Given the description of an element on the screen output the (x, y) to click on. 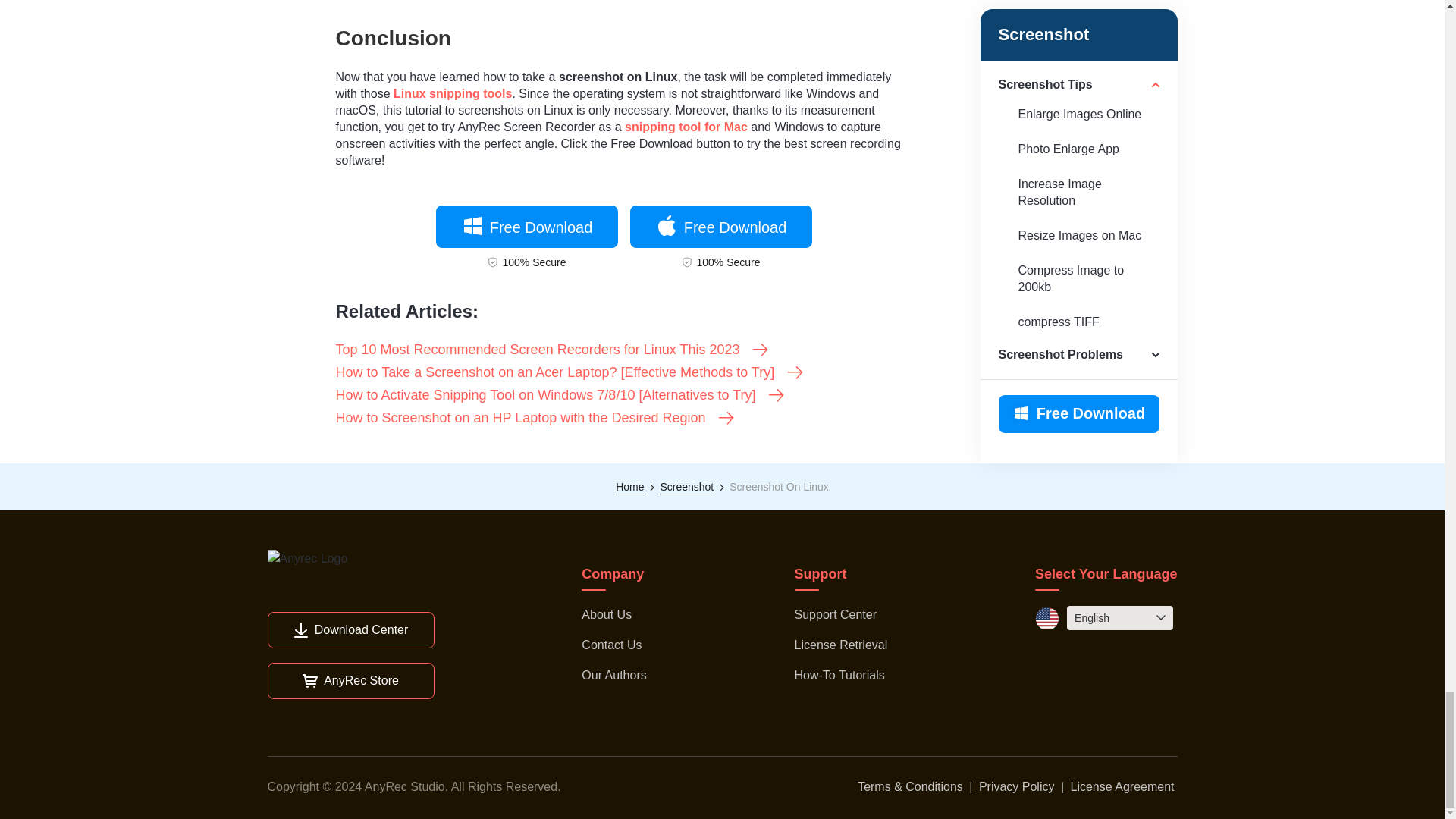
snipping tool for Mac (686, 126)
Screenshot (686, 486)
Home (629, 486)
Free Download (719, 226)
Free Download (526, 226)
Linux snipping tools (452, 92)
How to Screenshot on an HP Laptop with the Desired Region (534, 417)
Top 10 Most Recommended Screen Recorders for Linux This 2023 (552, 349)
